Given the description of an element on the screen output the (x, y) to click on. 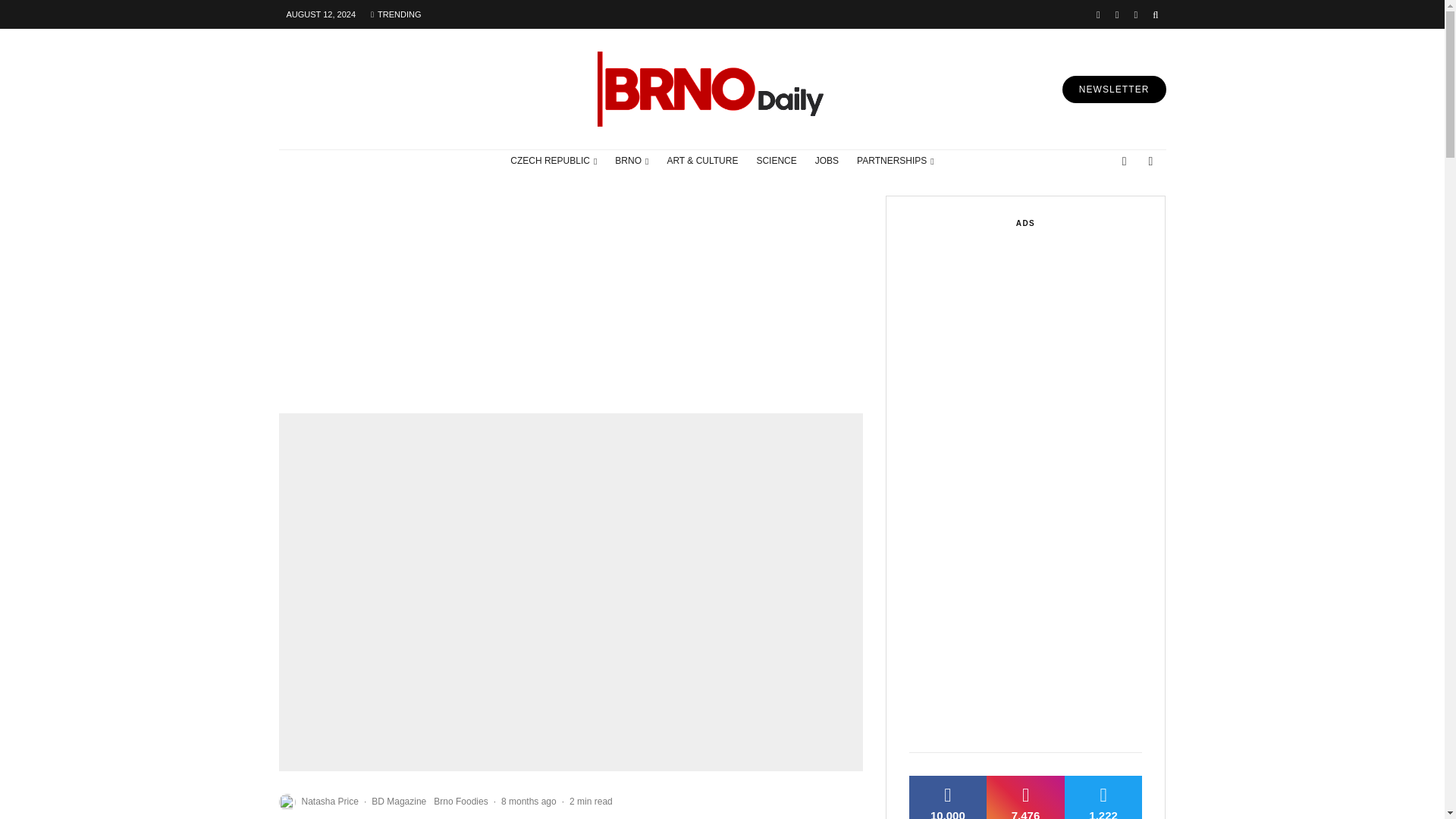
CZECH REPUBLIC (552, 160)
NEWSLETTER (1114, 89)
TRENDING (395, 14)
BRNO (631, 160)
